Given the description of an element on the screen output the (x, y) to click on. 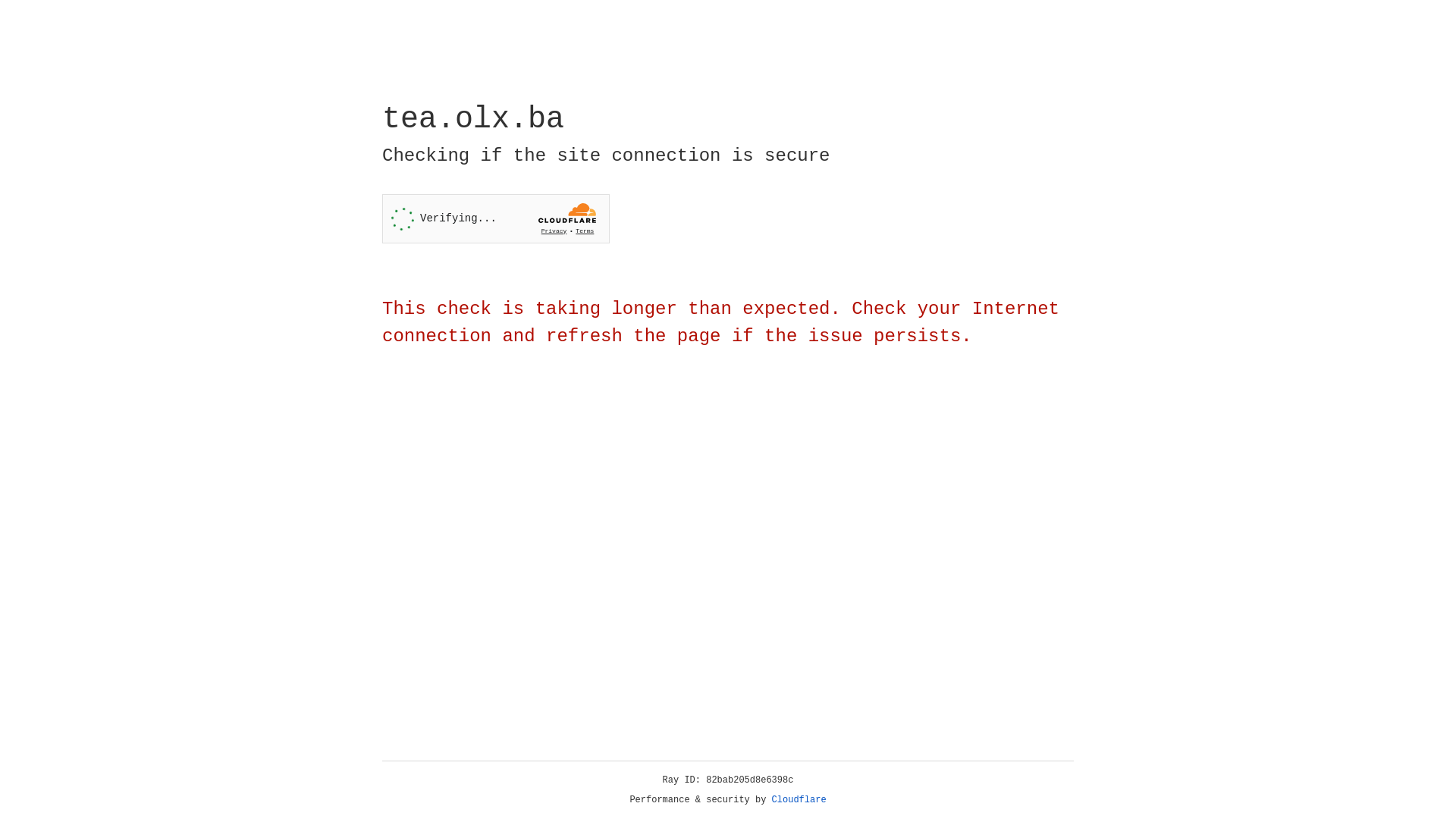
Widget containing a Cloudflare security challenge Element type: hover (495, 218)
Cloudflare Element type: text (798, 799)
